Given the description of an element on the screen output the (x, y) to click on. 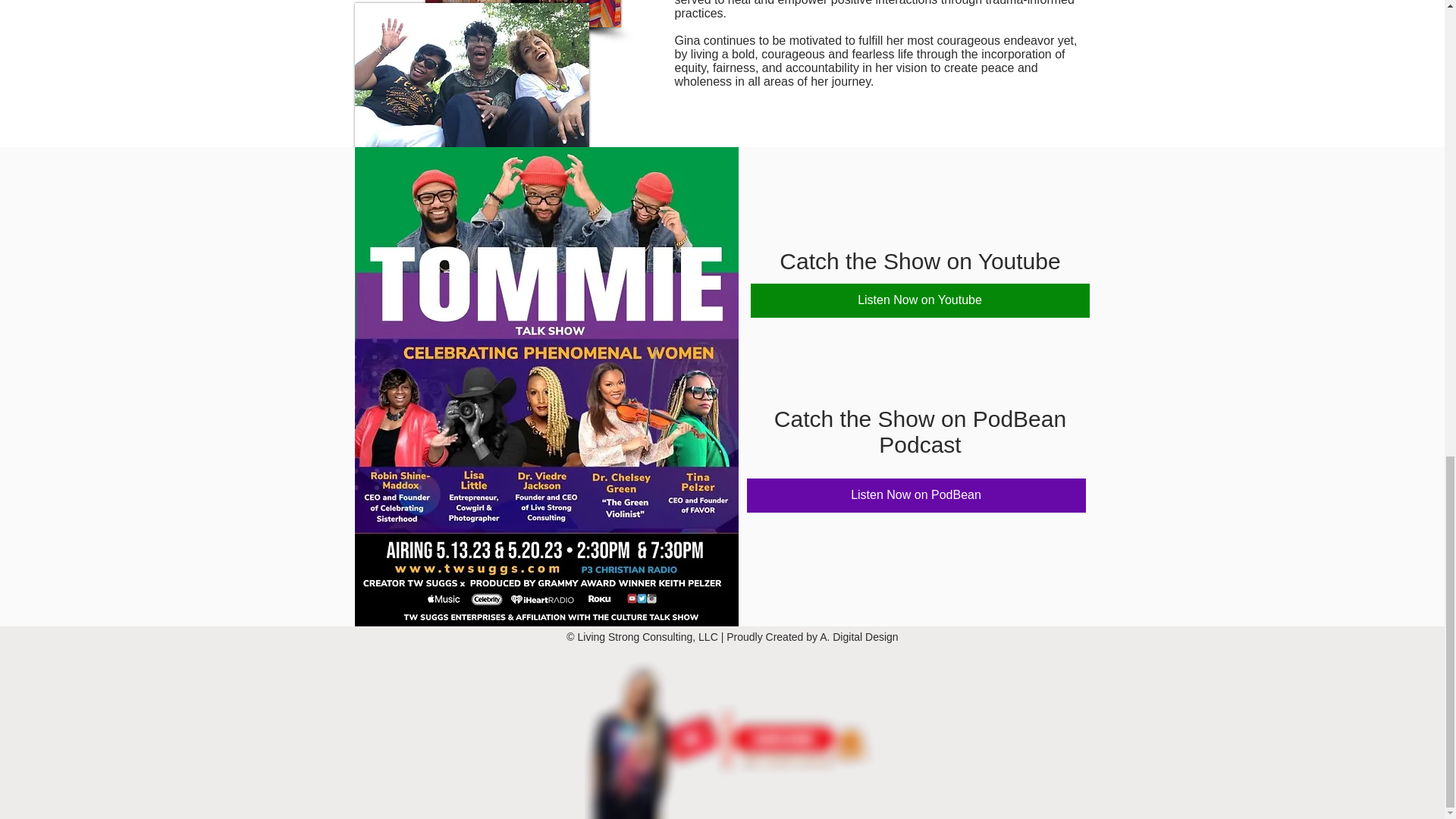
Listen Now on Youtube (920, 300)
Listen Now on PodBean (914, 495)
